Given the description of an element on the screen output the (x, y) to click on. 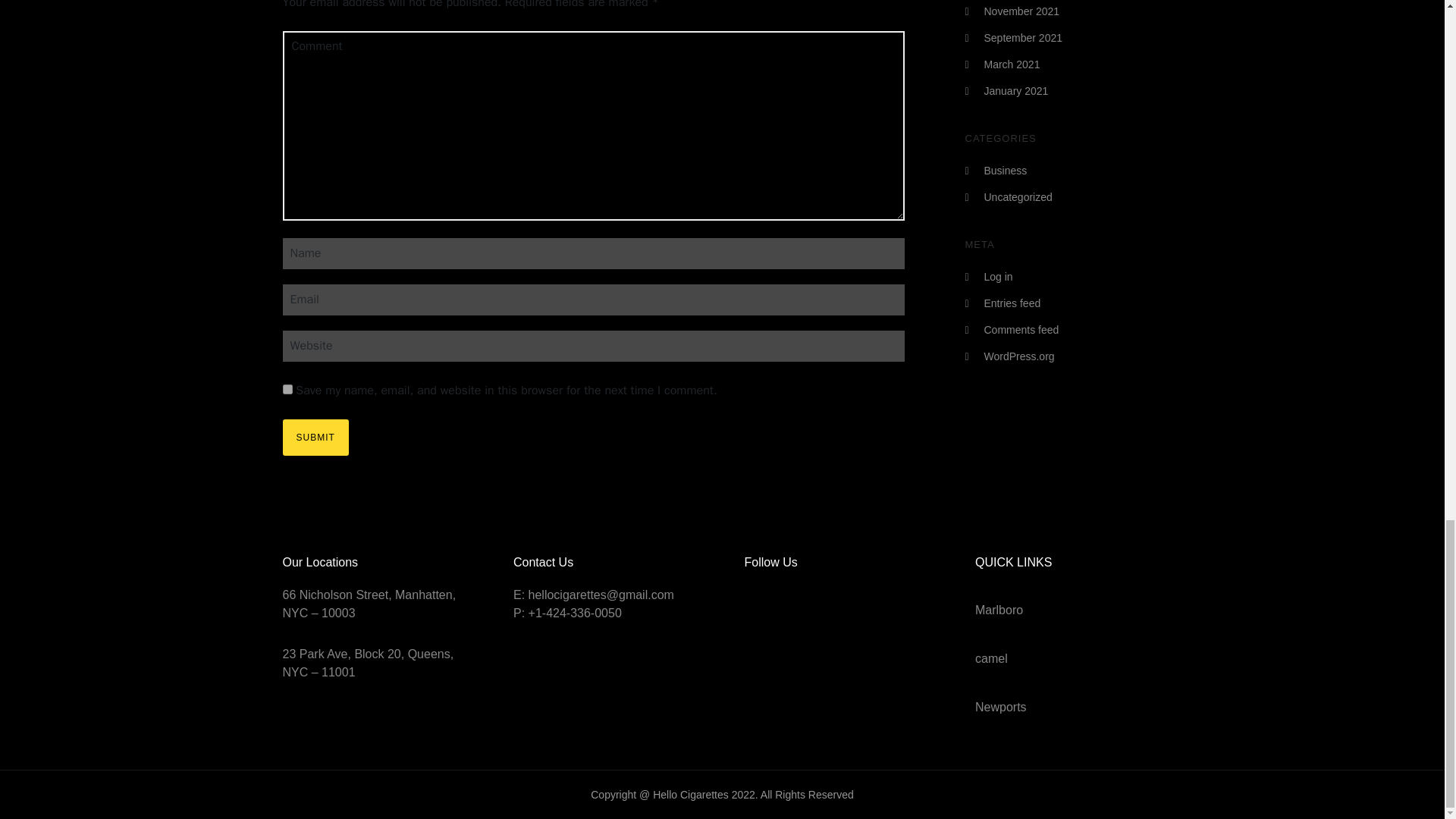
Submit (314, 437)
Submit (314, 437)
yes (287, 388)
